Given the description of an element on the screen output the (x, y) to click on. 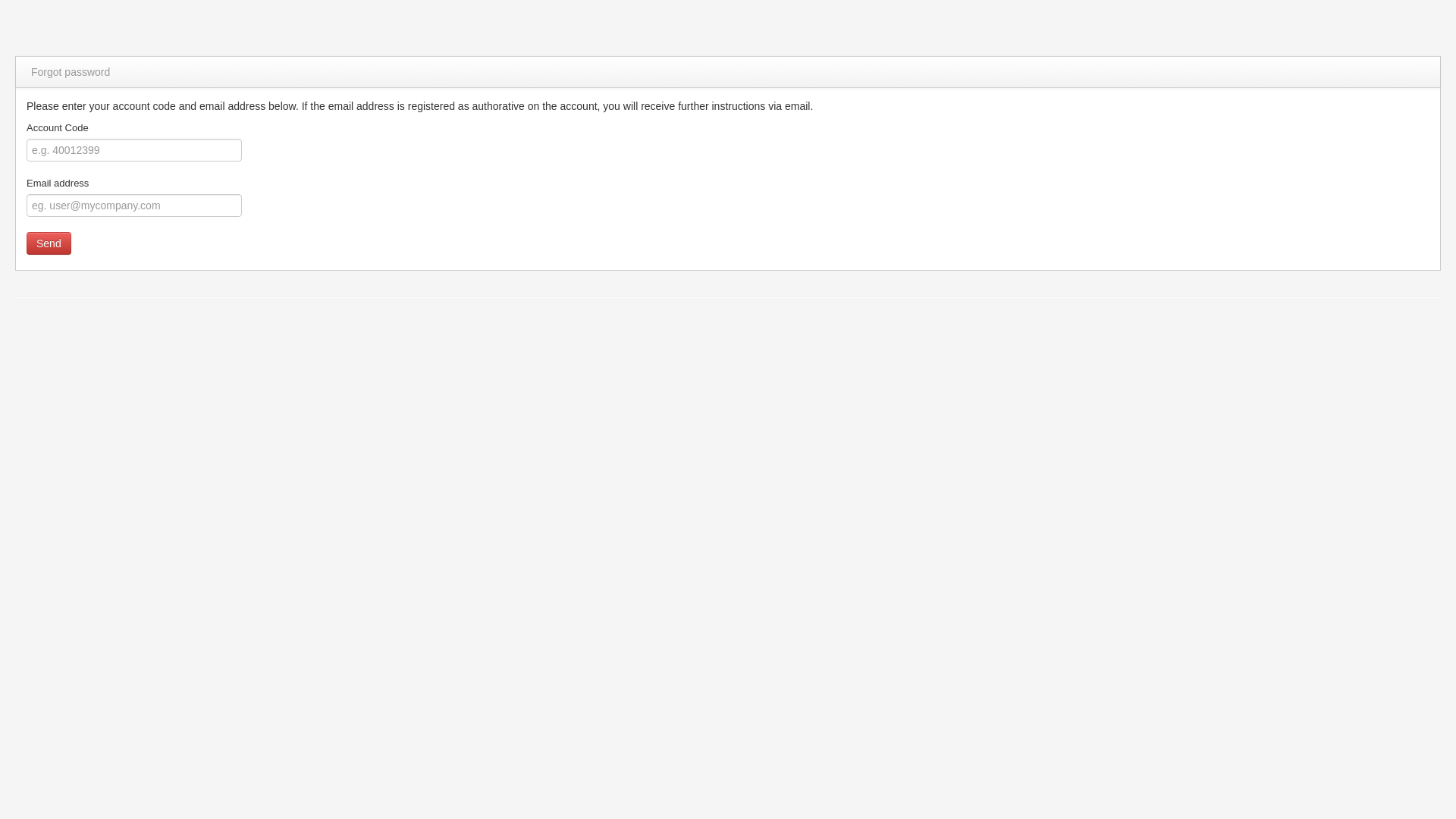
Send Element type: text (48, 243)
